Given the description of an element on the screen output the (x, y) to click on. 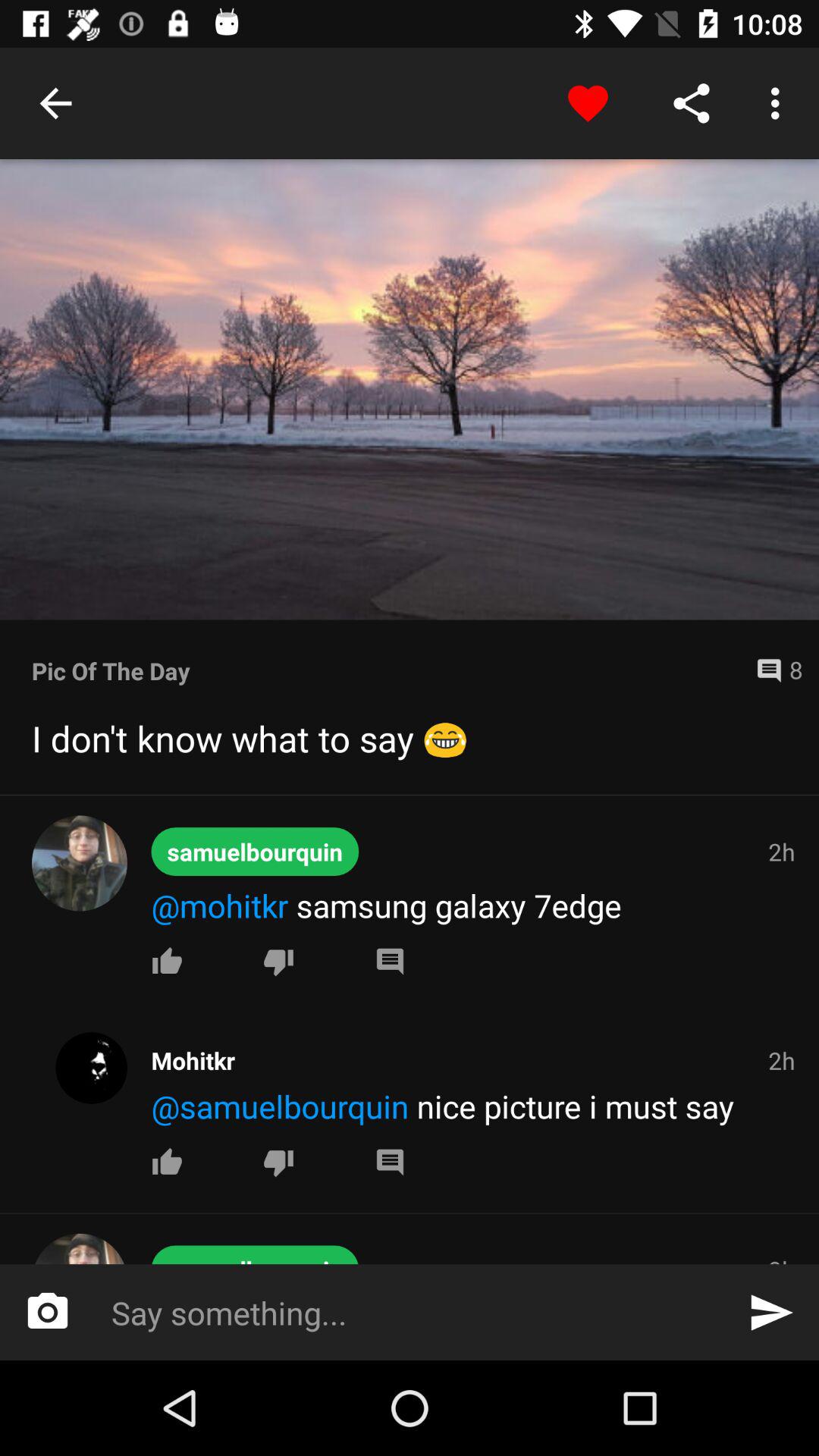
turn on icon to the right of pic of the (773, 670)
